Given the description of an element on the screen output the (x, y) to click on. 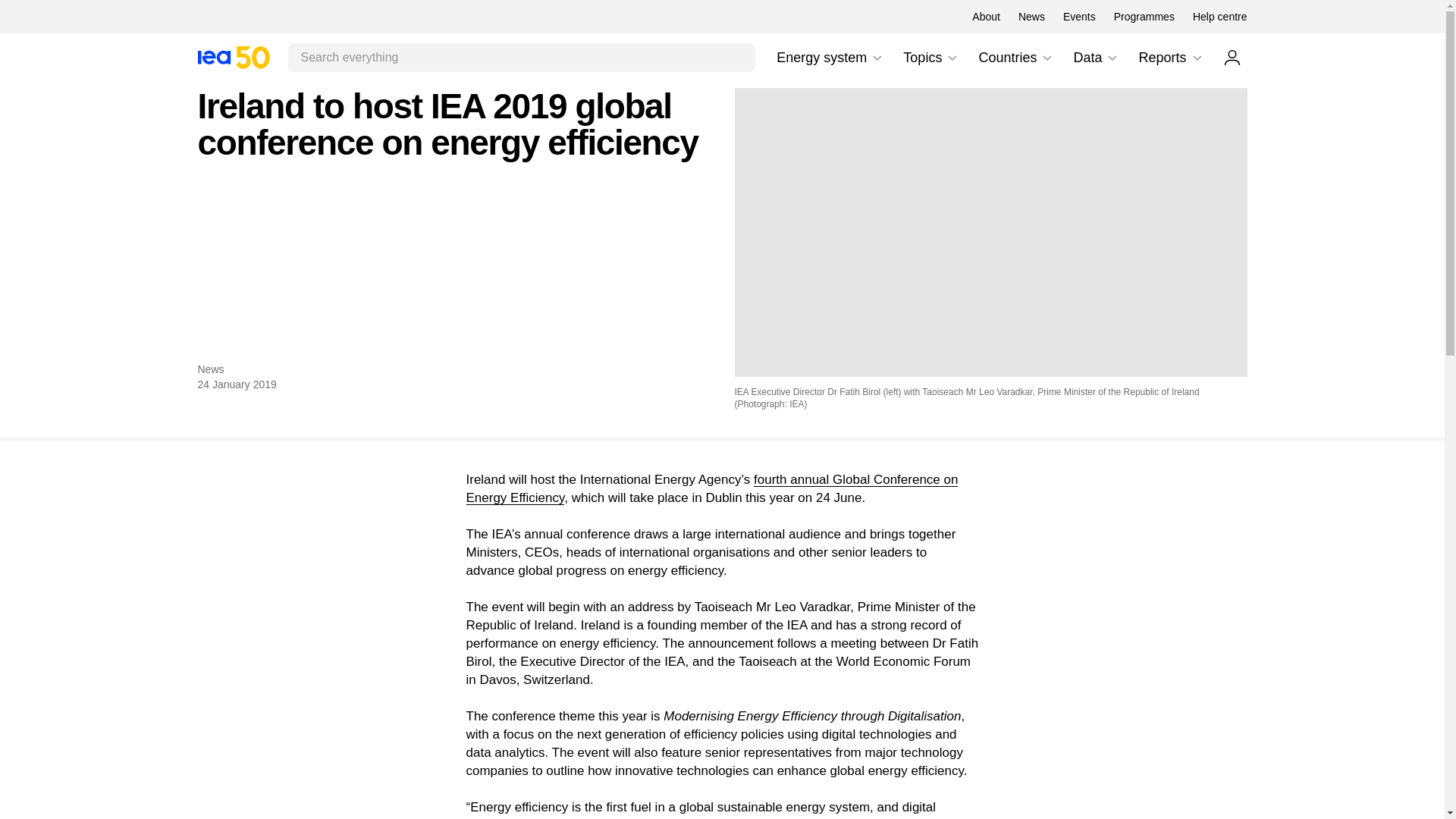
Chevron down (931, 57)
Chevron down (1196, 57)
About (1046, 57)
User Profile (986, 16)
Chevron down (1231, 57)
Chevron down (877, 57)
Events (830, 57)
IEA (951, 57)
Programmes (1079, 16)
Help centre (232, 56)
IEA (1143, 16)
Chevron down (1219, 16)
News (232, 56)
